Given the description of an element on the screen output the (x, y) to click on. 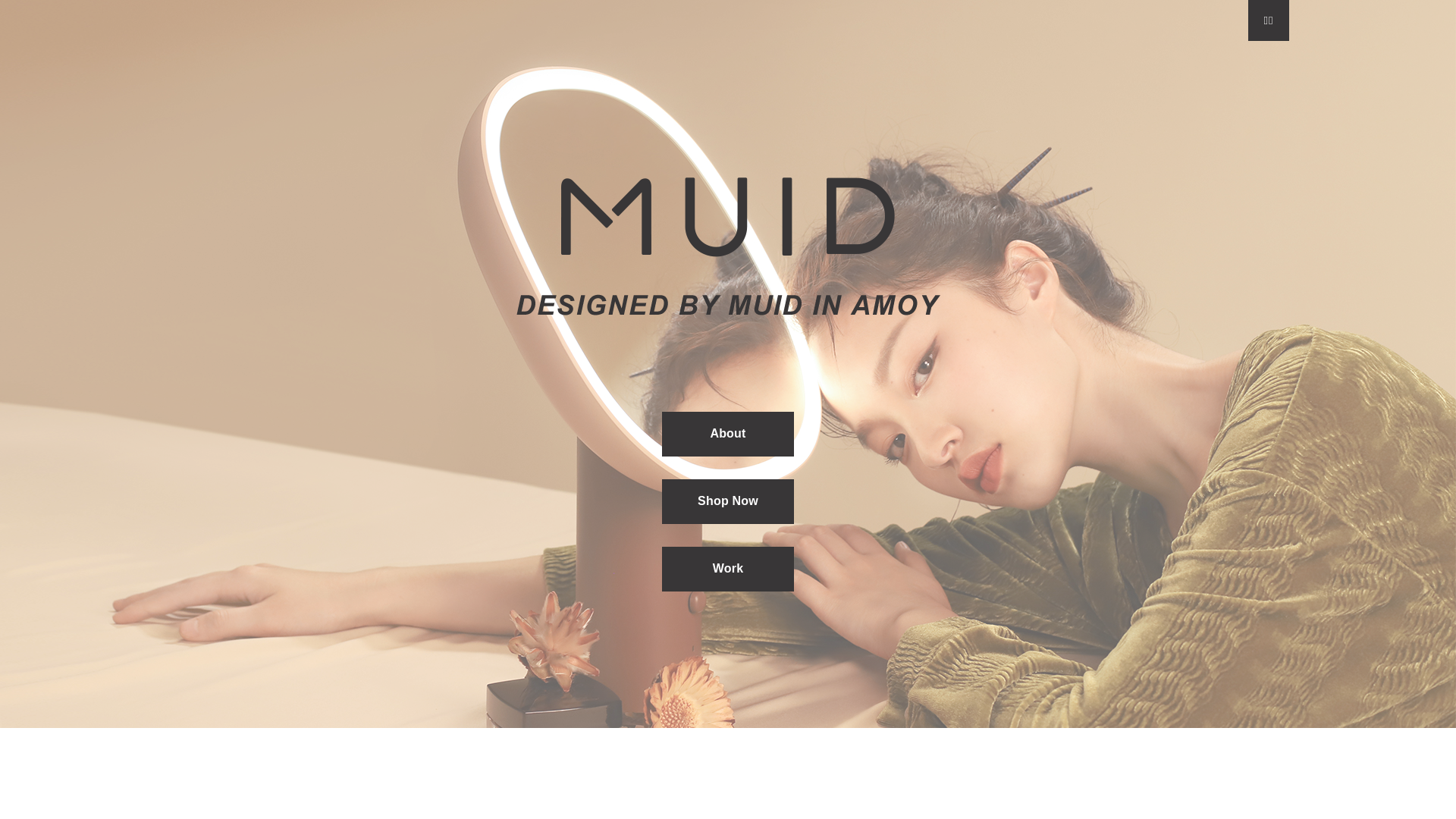
Work Element type: text (727, 568)
Shop Now Element type: text (727, 501)
About Element type: text (727, 433)
